Given the description of an element on the screen output the (x, y) to click on. 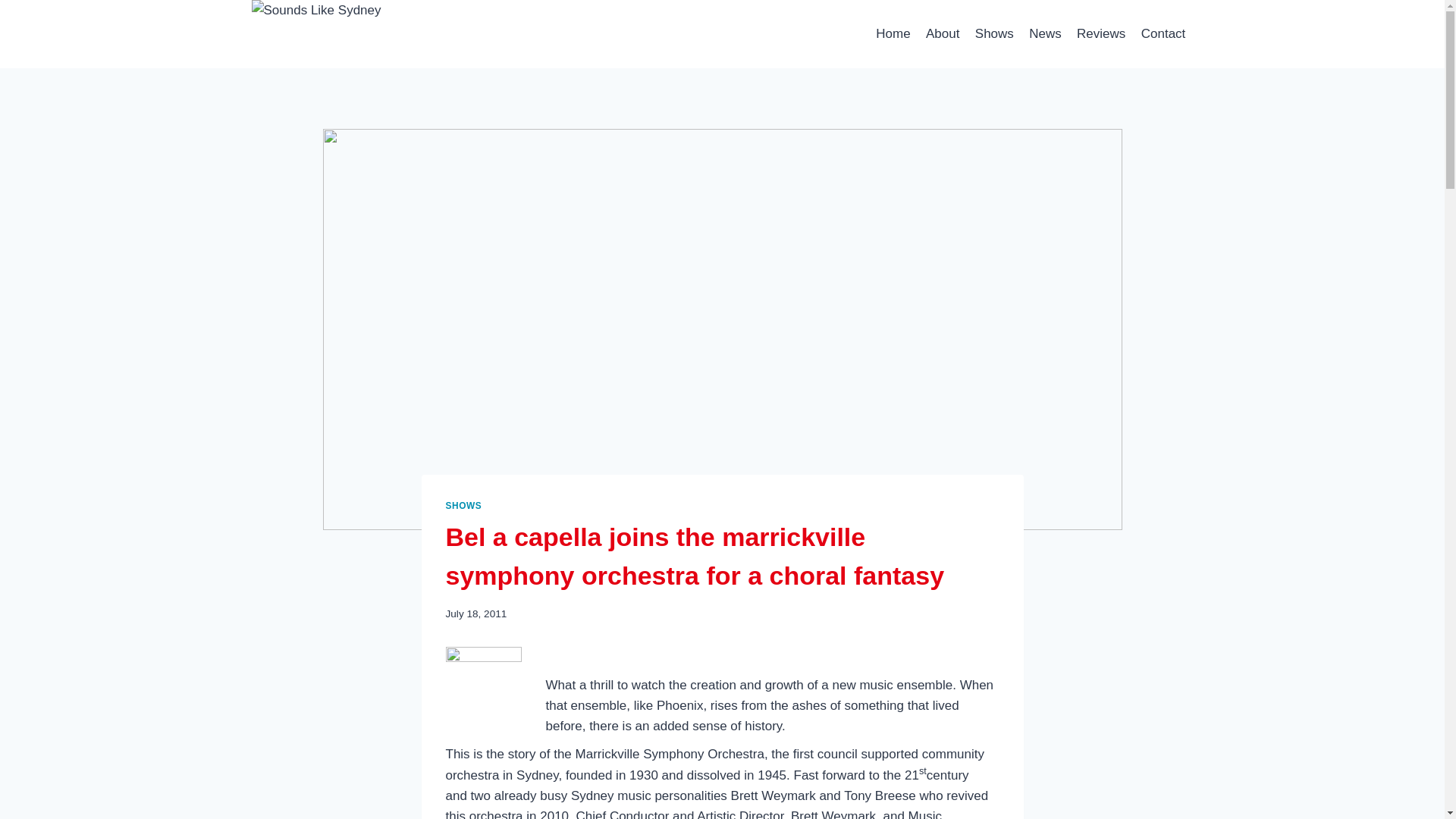
Reviews (1101, 33)
roitman2-160x240 (483, 684)
About (943, 33)
Home (892, 33)
Contact (1163, 33)
News (1045, 33)
Shows (995, 33)
SHOWS (463, 505)
